Given the description of an element on the screen output the (x, y) to click on. 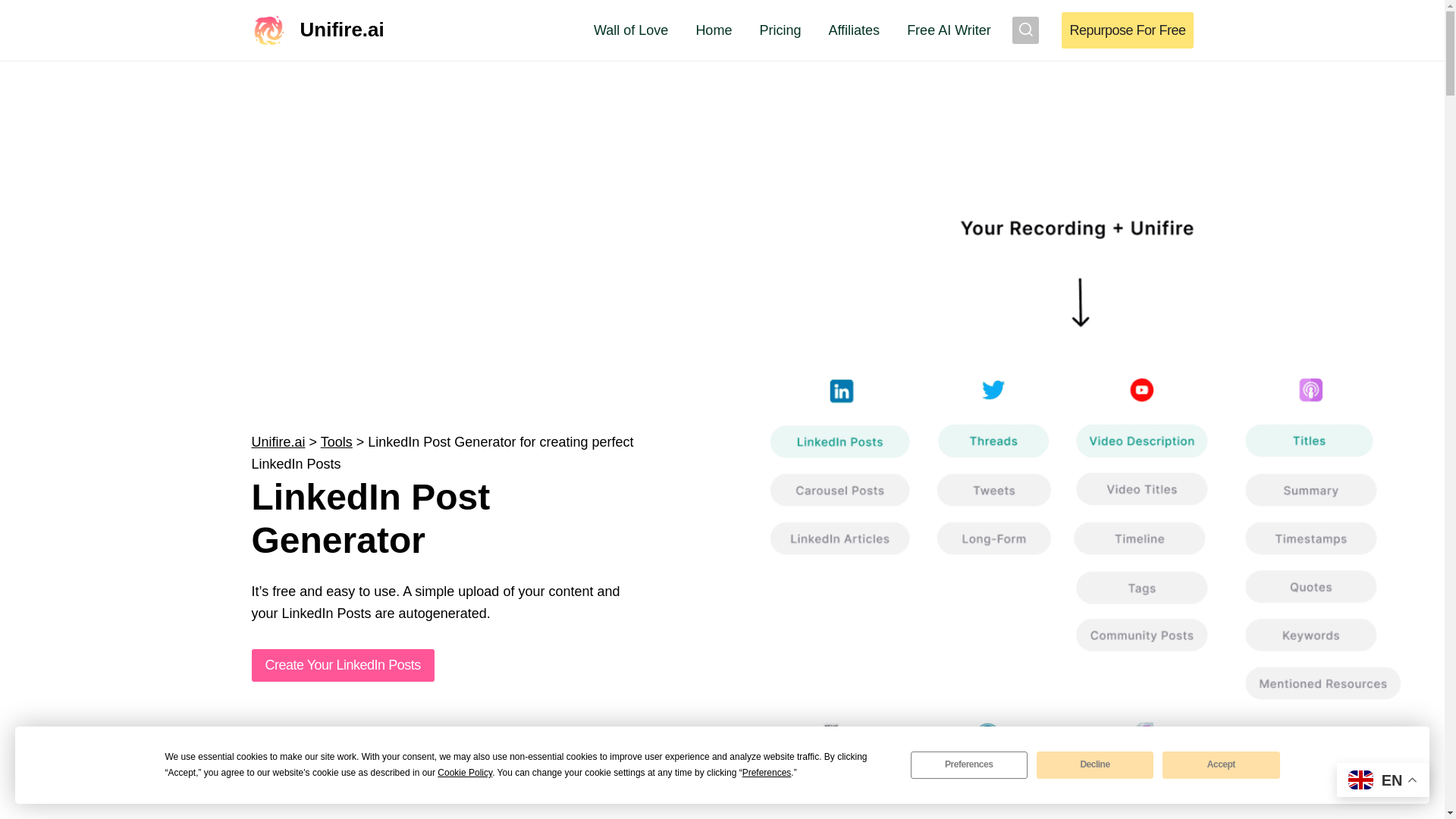
Pricing (779, 30)
Create Your LinkedIn Posts (342, 665)
Unifire.ai (317, 30)
Tools (336, 441)
Wall of Love (630, 30)
Unifire.ai (278, 441)
Affiliates (853, 30)
Go to Unifire.ai. (278, 441)
Decline (1094, 764)
Free AI Writer (948, 30)
Accept (1220, 764)
Repurpose For Free (1126, 30)
Home (713, 30)
Preferences (969, 764)
Go to Tools. (336, 441)
